Given the description of an element on the screen output the (x, y) to click on. 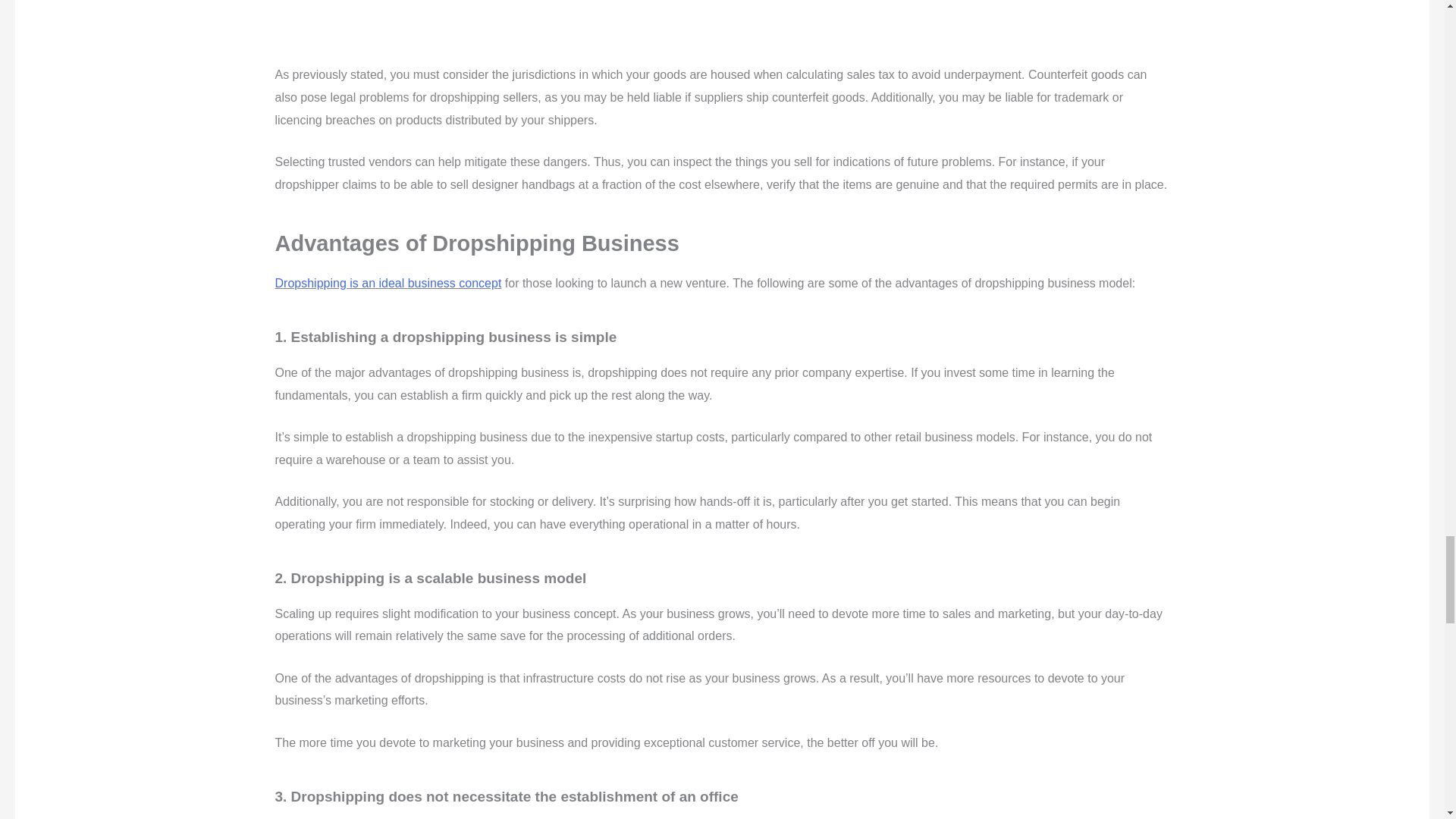
Dropshipping is an ideal business concept (387, 282)
